Given the description of an element on the screen output the (x, y) to click on. 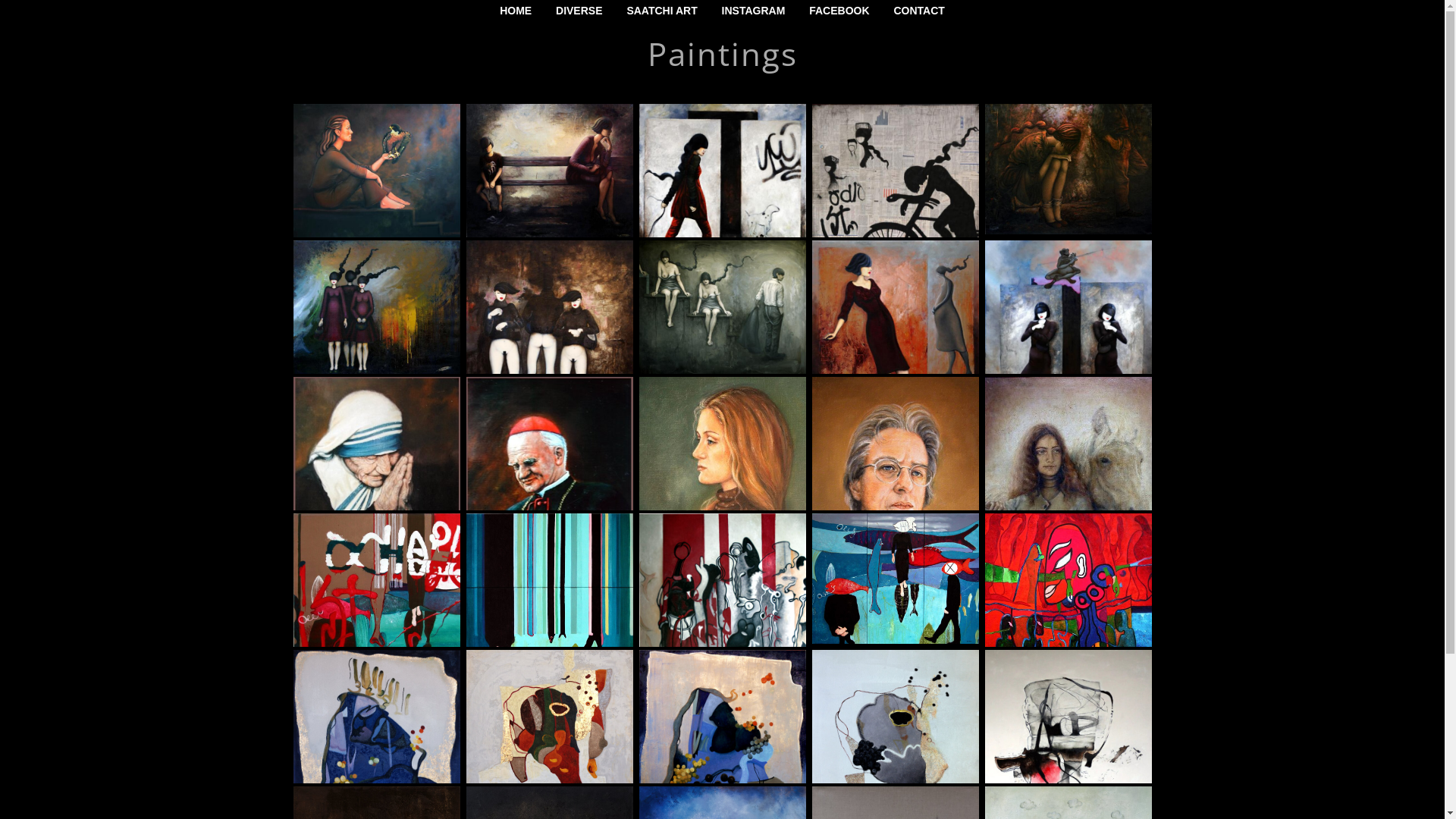
FACEBOOK Element type: text (839, 10)
INSTAGRAM Element type: text (753, 10)
DIVERSE Element type: text (578, 10)
CONTACT Element type: text (918, 10)
HOME Element type: text (515, 10)
SAATCHI ART Element type: text (661, 10)
